Given the description of an element on the screen output the (x, y) to click on. 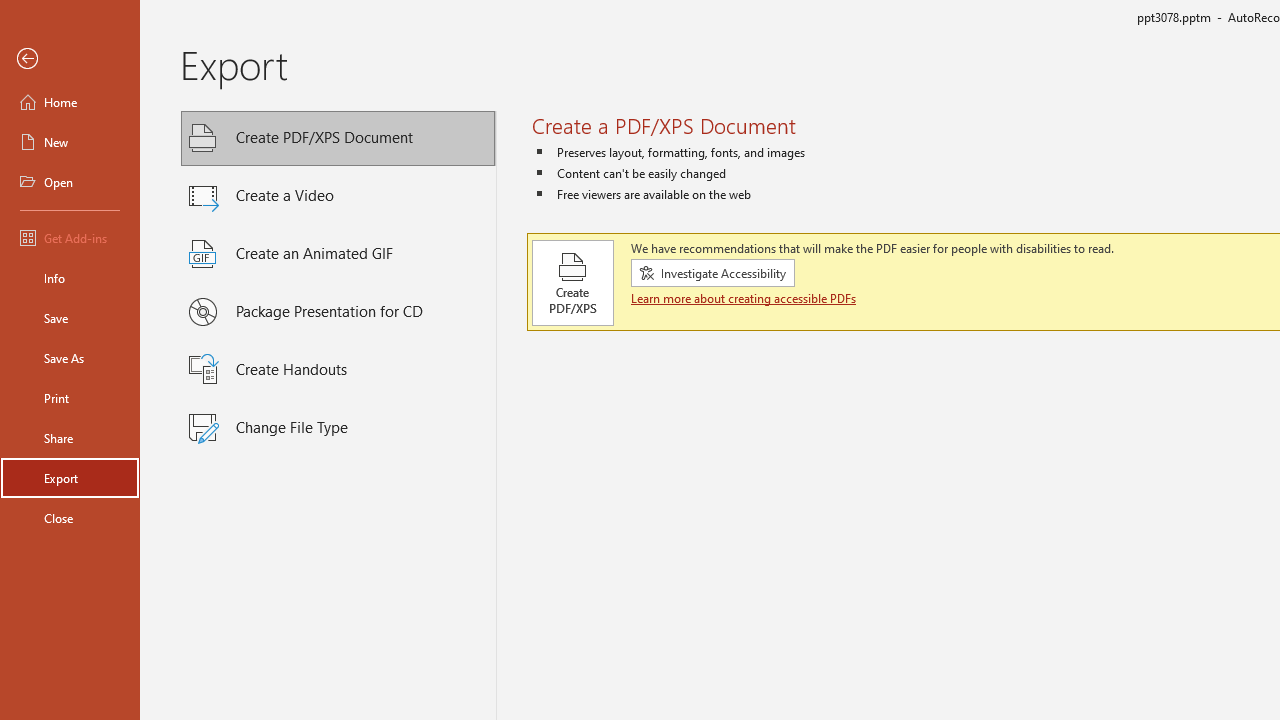
Package Presentation for CD (338, 312)
Get Add-ins (69, 237)
Create Handouts (338, 370)
Create an Animated GIF (338, 254)
Create PDF/XPS Document (338, 138)
Back (69, 59)
